Given the description of an element on the screen output the (x, y) to click on. 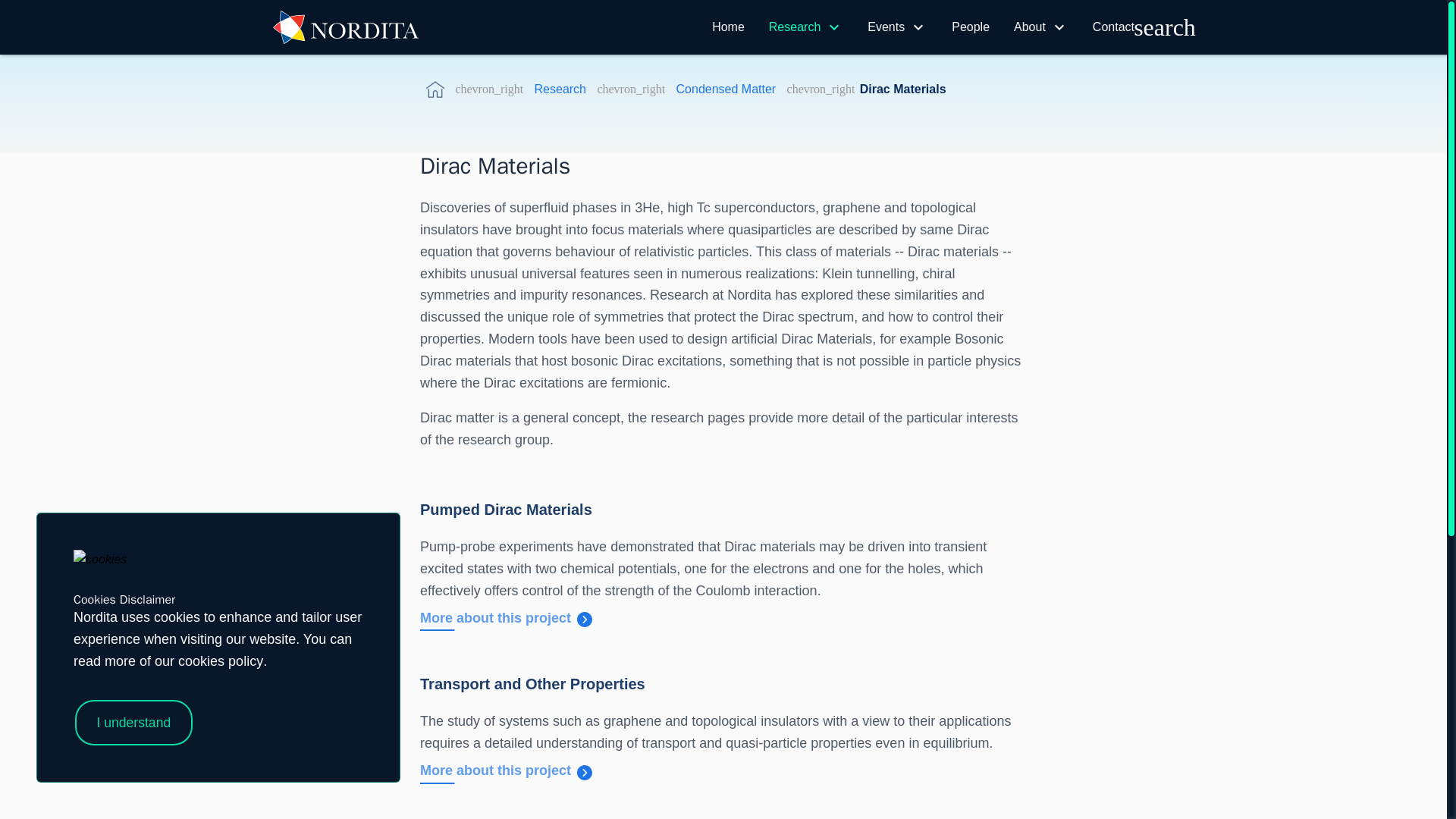
search (1164, 27)
Events (885, 26)
People (971, 26)
Contact (1113, 26)
About (1029, 26)
Home (727, 26)
Research (794, 26)
